Given the description of an element on the screen output the (x, y) to click on. 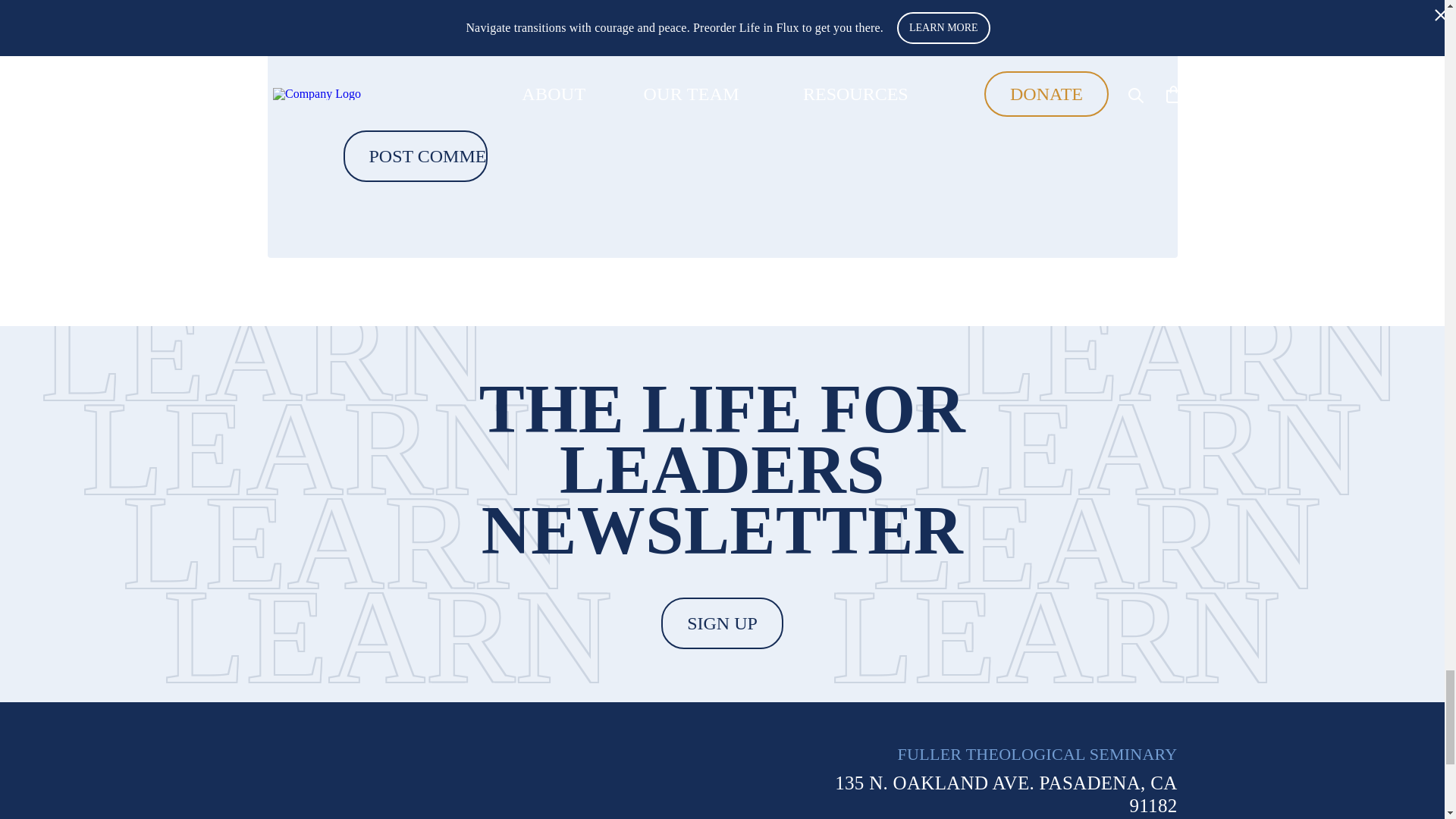
Post Comment (414, 155)
yes (360, 37)
Return to Homepage (383, 781)
